Given the description of an element on the screen output the (x, y) to click on. 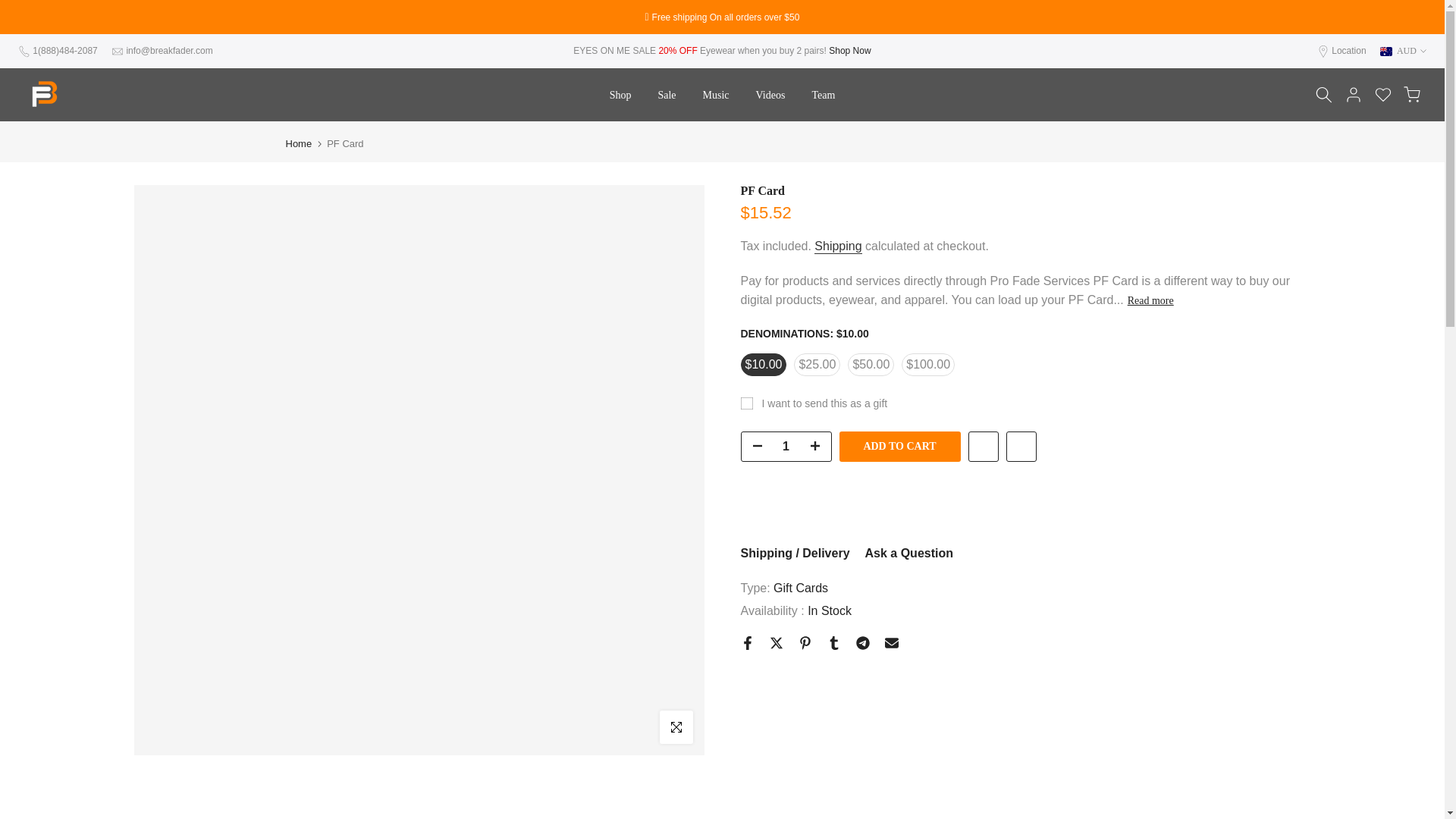
Eyewear (849, 50)
Location (1348, 50)
Shop Now (849, 50)
Shop (620, 95)
Skip to content (10, 7)
Shipping (837, 246)
AUD (1403, 50)
on (750, 407)
Share on Twitter (775, 643)
Team (822, 95)
Share on Pinterest (803, 643)
Sale (666, 95)
Share on Telegram (862, 643)
Share on Facebook (746, 643)
Share on Email (890, 643)
